Given the description of an element on the screen output the (x, y) to click on. 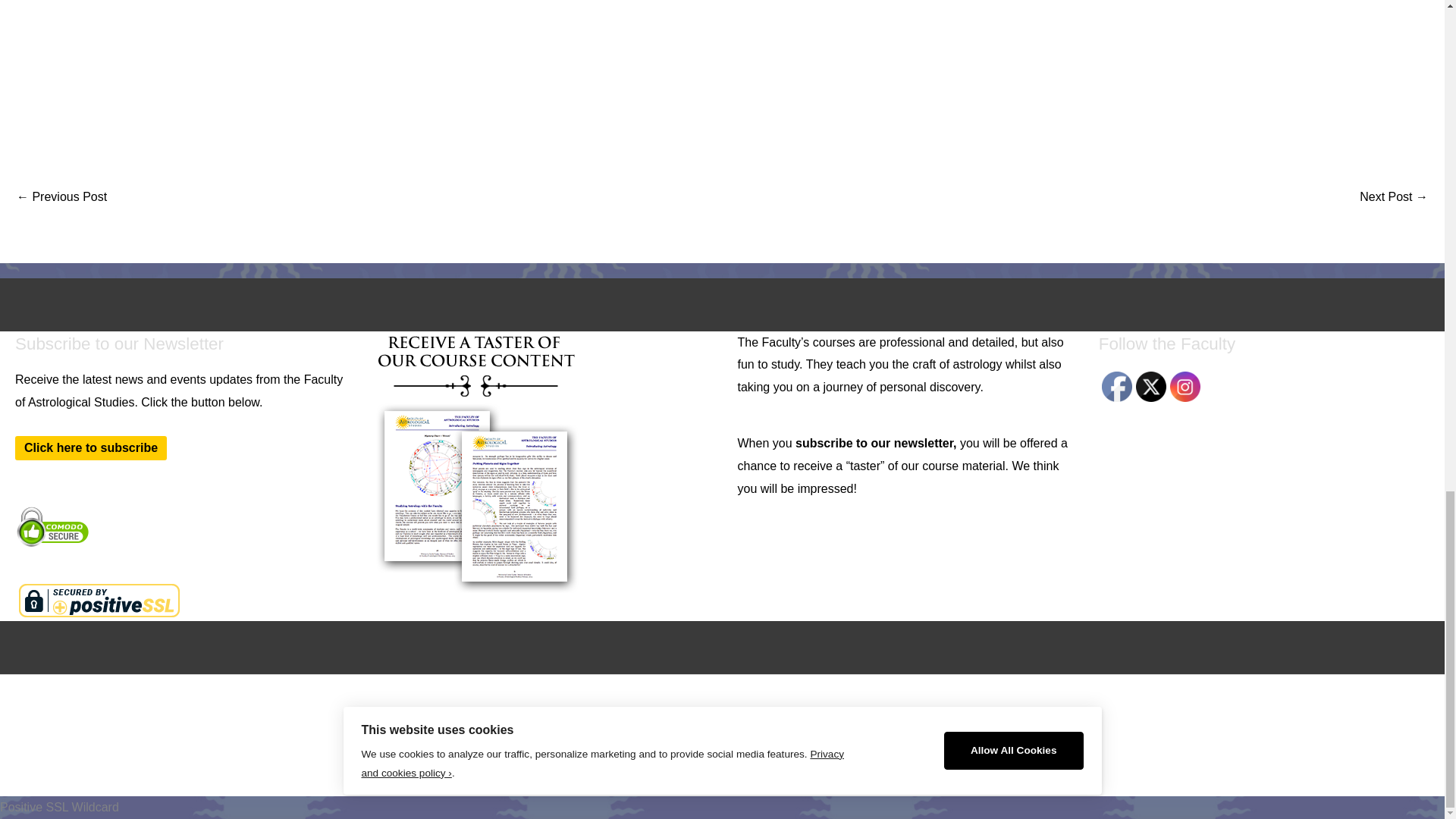
The Faculty Awards a Fellowship! (61, 198)
Change of Head Tutor (1393, 198)
Instagram (1184, 386)
Facebook (1117, 386)
Twitter (1150, 386)
